Given the description of an element on the screen output the (x, y) to click on. 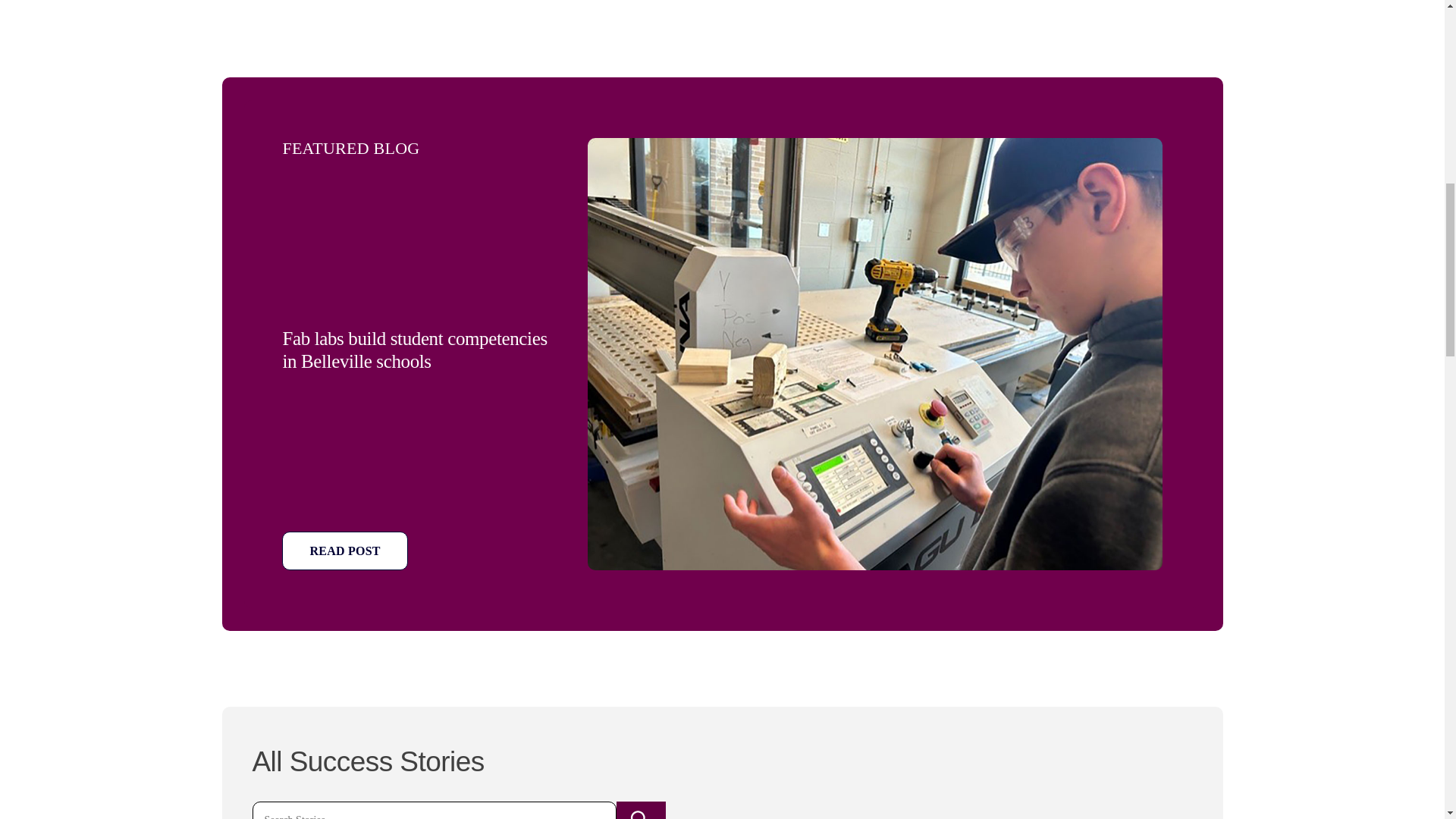
Read Post (344, 550)
